Given the description of an element on the screen output the (x, y) to click on. 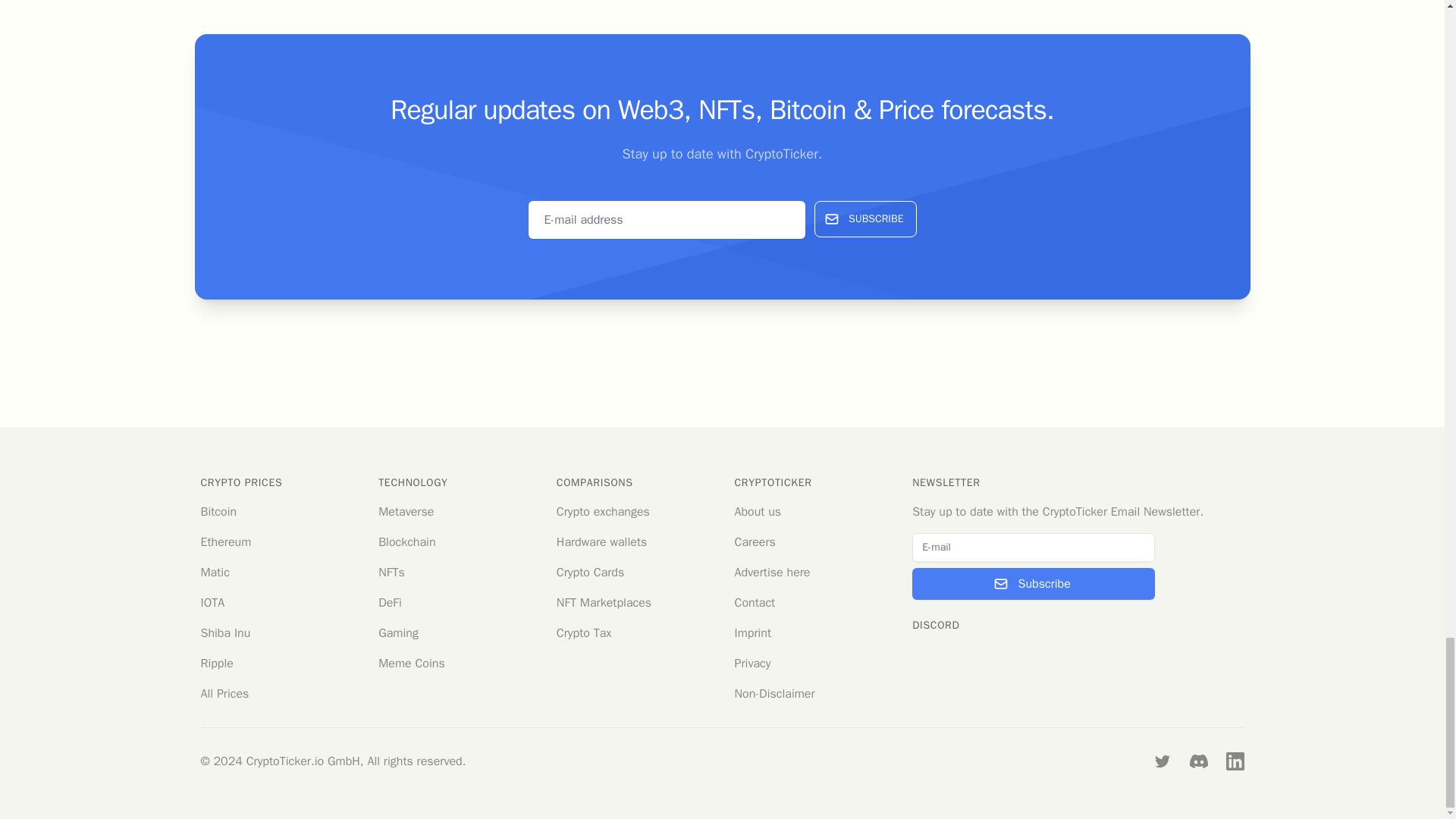
NFTs (391, 572)
DeFi (389, 602)
SUBSCRIBE (864, 218)
IOTA (212, 602)
Bitcoin (217, 511)
Matic (214, 572)
Shiba Inu (225, 632)
Blockchain (406, 541)
Ripple (216, 663)
Ethereum (225, 541)
Gaming (398, 632)
All Prices (224, 693)
Meme Coins (411, 663)
Metaverse (405, 511)
Crypto exchanges (602, 511)
